Given the description of an element on the screen output the (x, y) to click on. 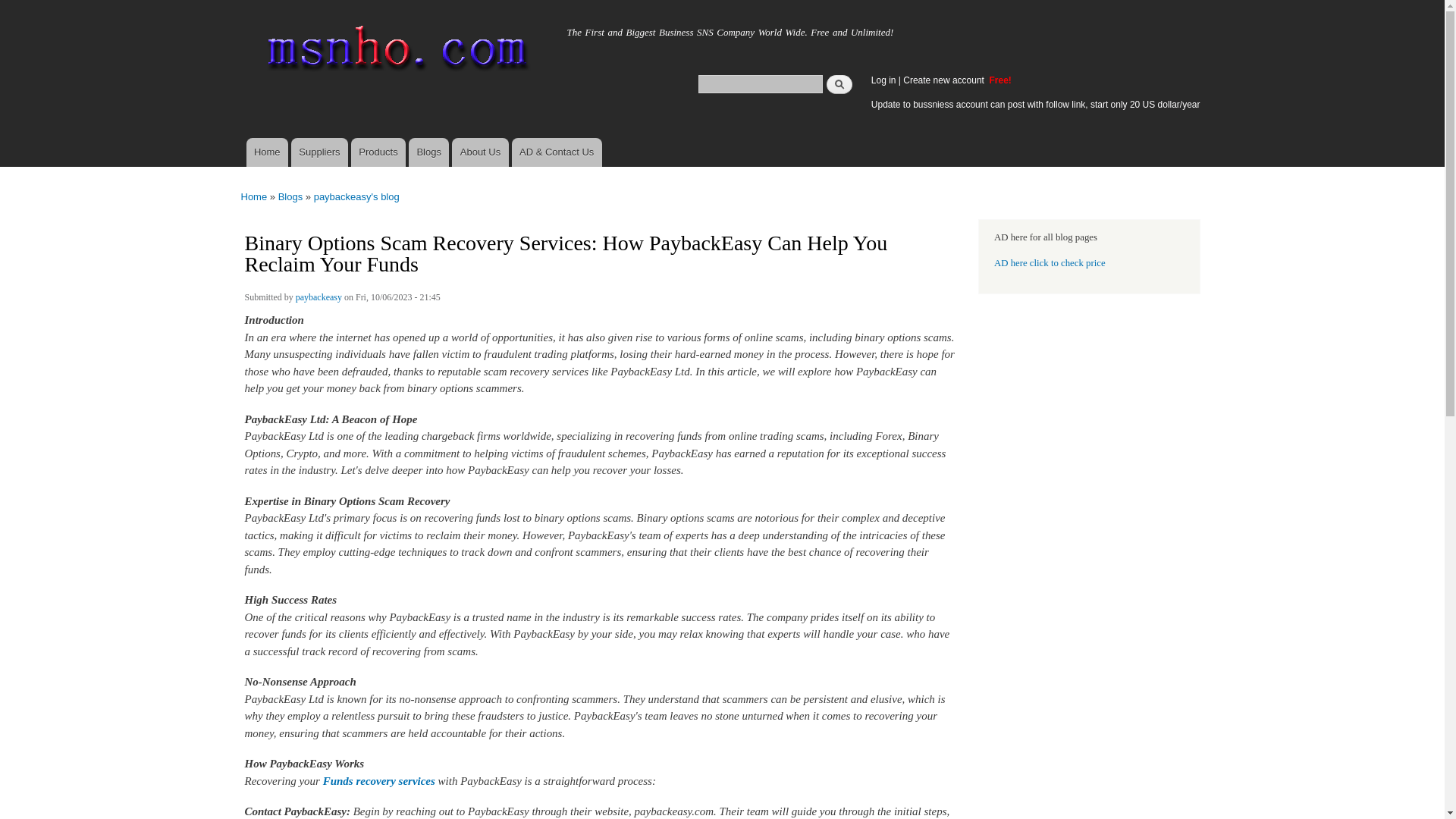
msnho.com (282, 28)
Blogs (428, 152)
Funds recovery services (379, 780)
Home (394, 51)
Suppliers (319, 152)
paybackeasy (318, 298)
Log in (883, 79)
About Us (479, 152)
paybackeasy's blog (356, 196)
